Given the description of an element on the screen output the (x, y) to click on. 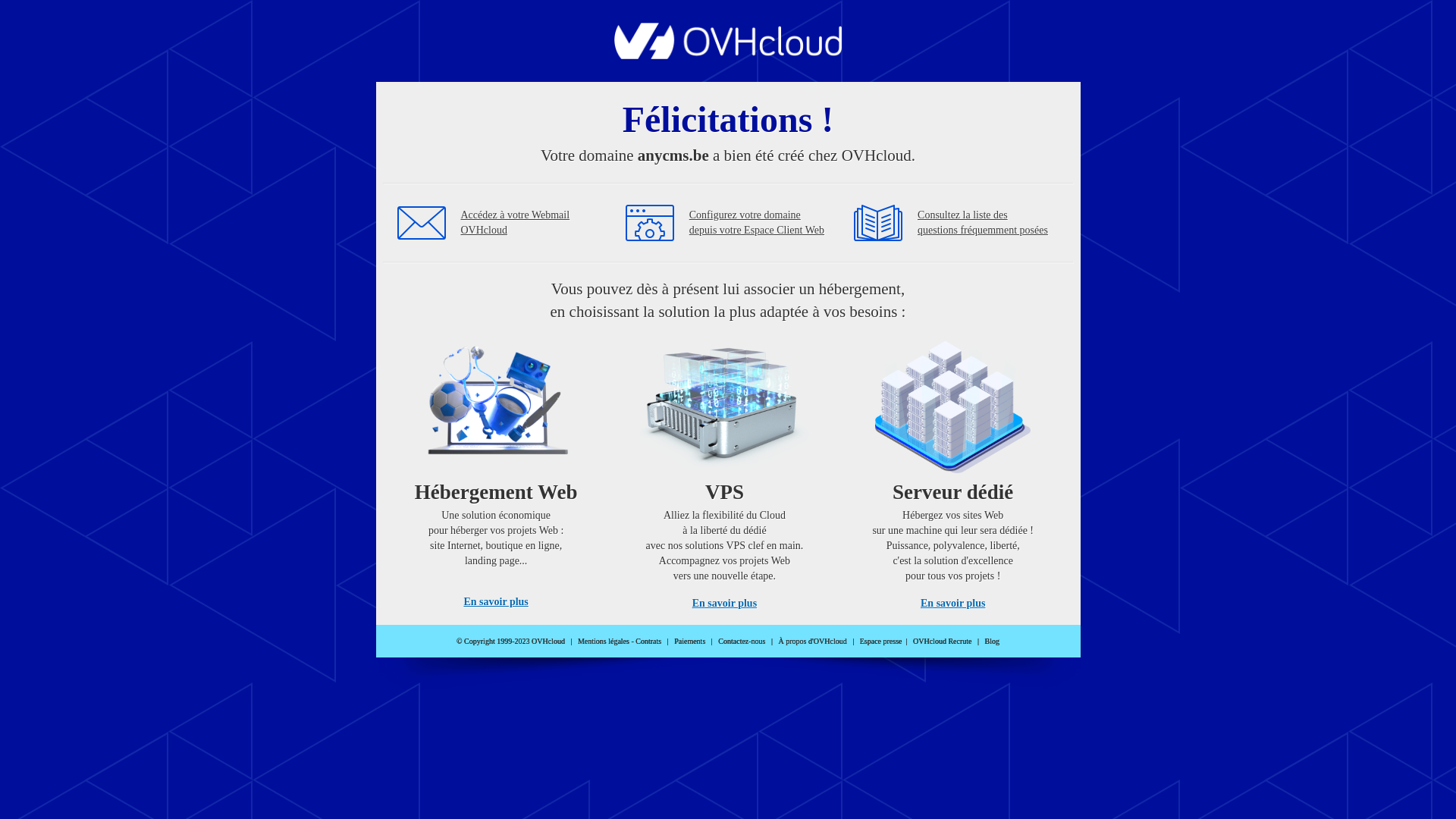
OVHcloud Element type: hover (727, 54)
OVHcloud Recrute Element type: text (942, 641)
En savoir plus Element type: text (724, 602)
En savoir plus Element type: text (952, 602)
Configurez votre domaine
depuis votre Espace Client Web Element type: text (756, 222)
En savoir plus Element type: text (495, 601)
Paiements Element type: text (689, 641)
Contactez-nous Element type: text (741, 641)
Blog Element type: text (992, 641)
VPS Element type: hover (724, 469)
Espace presse Element type: text (880, 641)
